Given the description of an element on the screen output the (x, y) to click on. 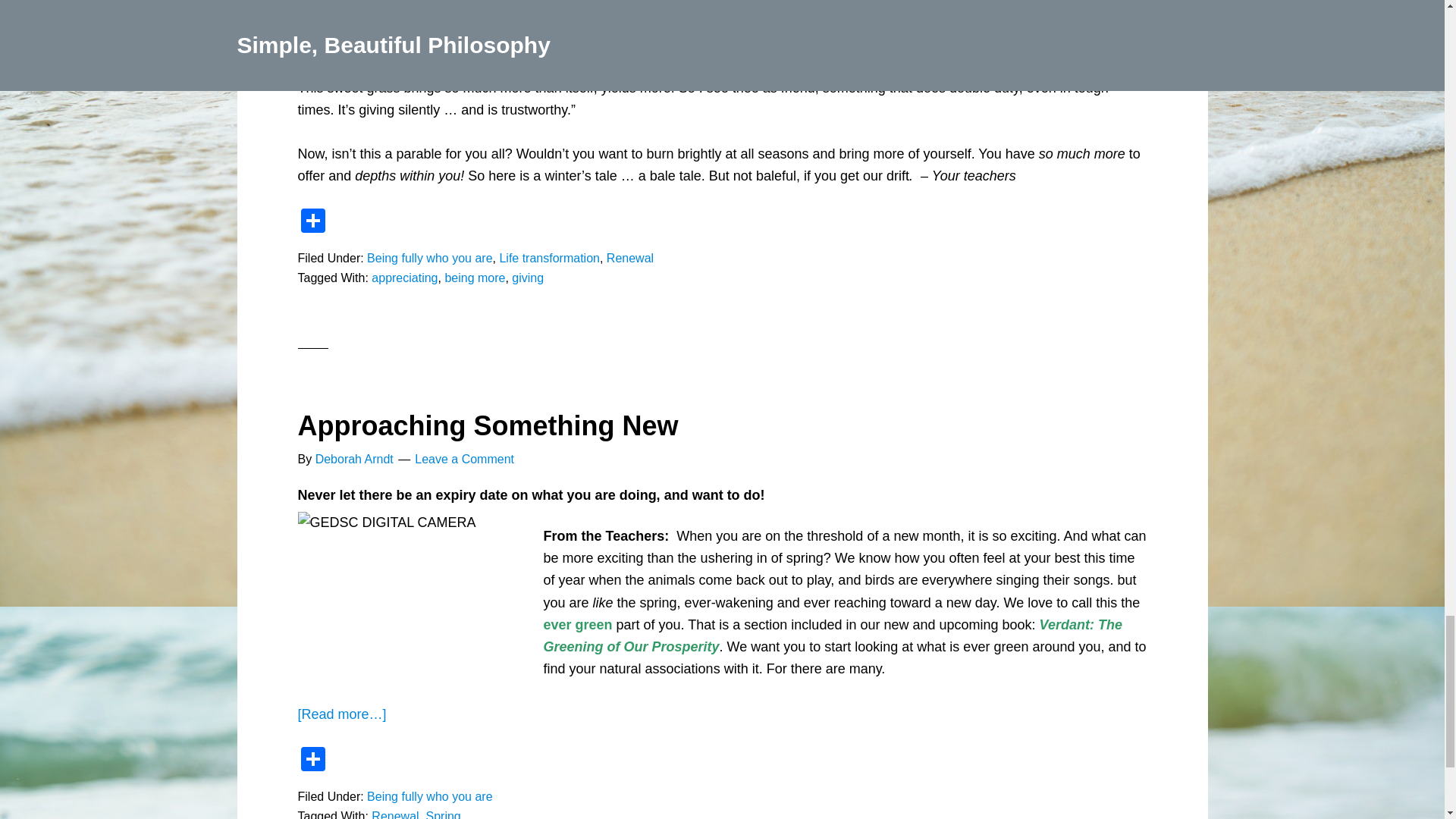
Spring (442, 814)
Deborah Arndt (354, 459)
Being fully who you are (429, 796)
Renewal (630, 257)
Approaching Something New (487, 425)
Share (312, 222)
Renewal (395, 814)
being more (474, 277)
giving (527, 277)
Share (312, 760)
Leave a Comment (463, 459)
Being fully who you are (429, 257)
Life transformation (549, 257)
appreciating (404, 277)
Verdant: The Greening of Our Prosperity (832, 635)
